Given the description of an element on the screen output the (x, y) to click on. 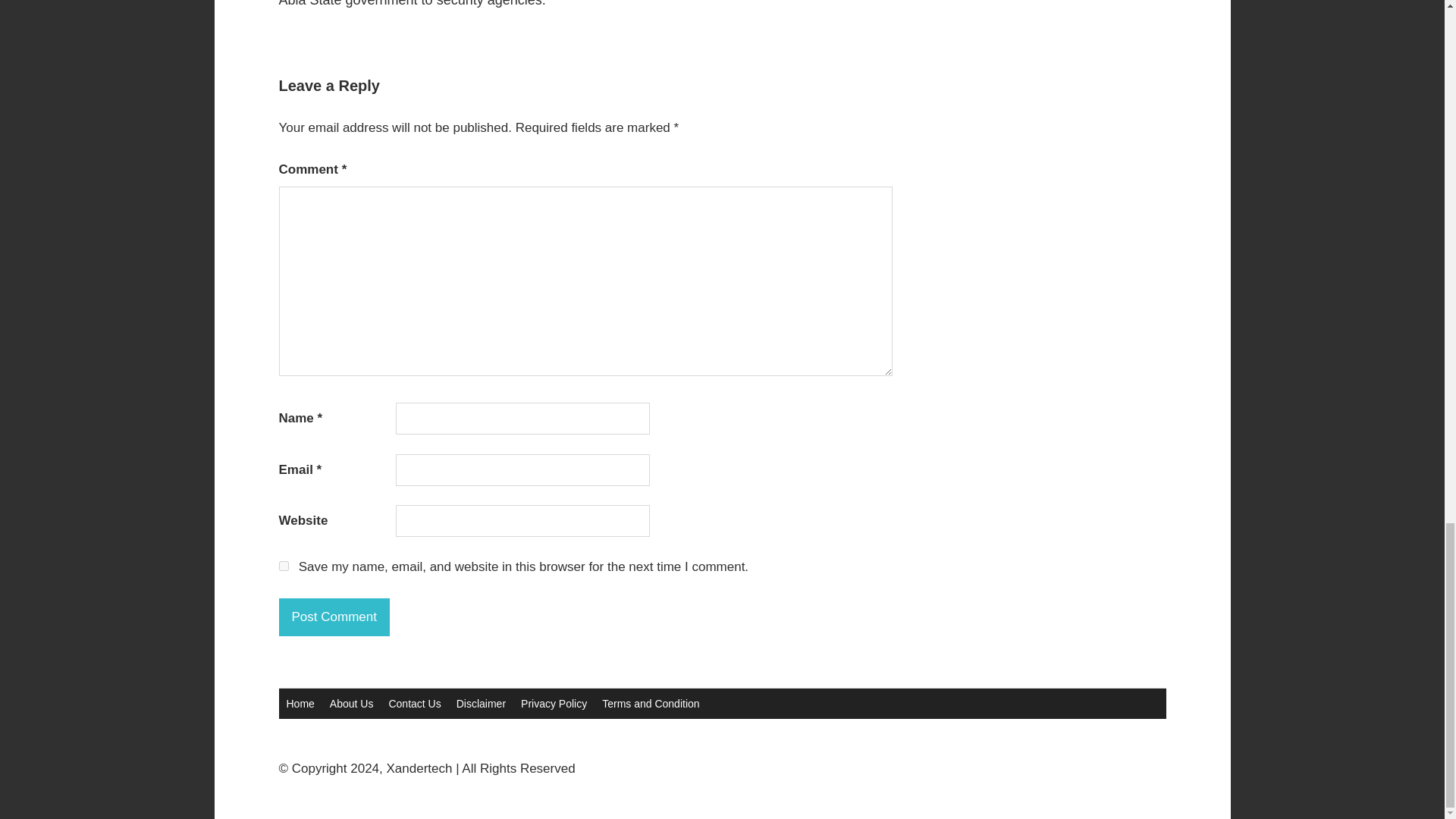
Post Comment (334, 617)
Contact Us (414, 703)
Disclaimer (480, 703)
yes (283, 565)
Privacy Policy (553, 703)
Post Comment (334, 617)
Home (300, 703)
Terms and Condition (650, 703)
About Us (351, 703)
